Given the description of an element on the screen output the (x, y) to click on. 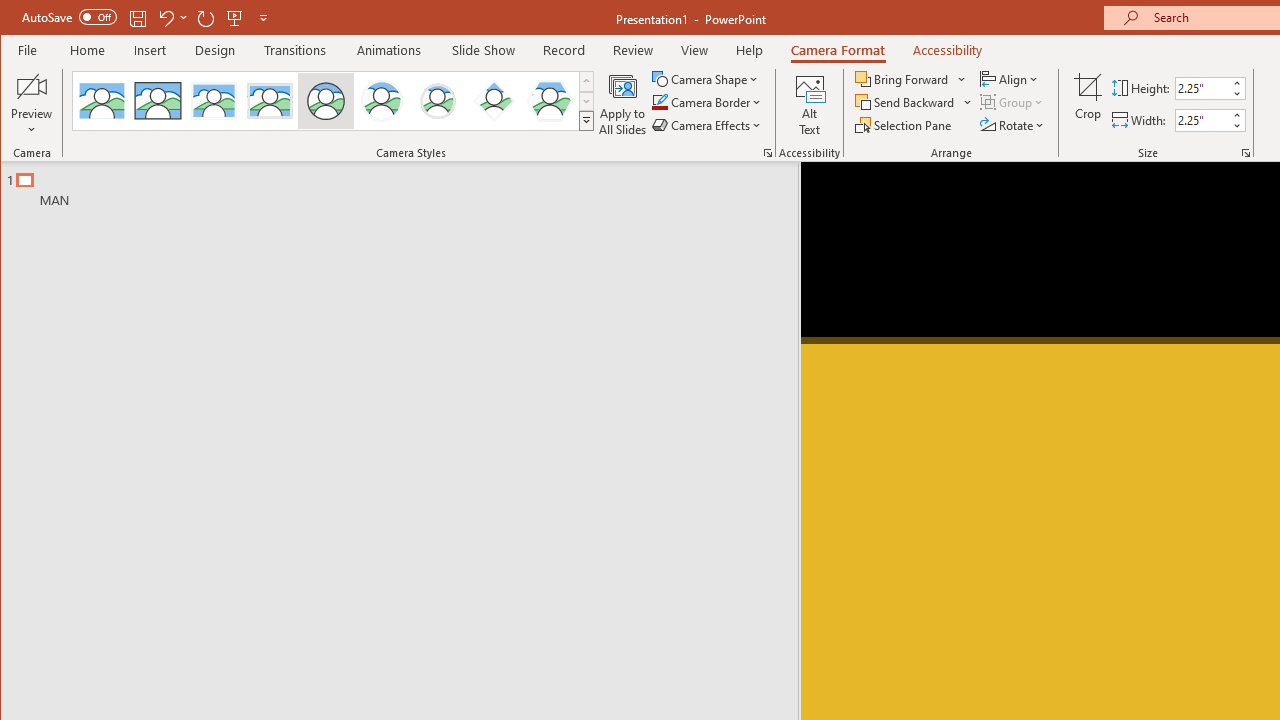
Soft Edge Rectangle (269, 100)
No Style (102, 100)
